Given the description of an element on the screen output the (x, y) to click on. 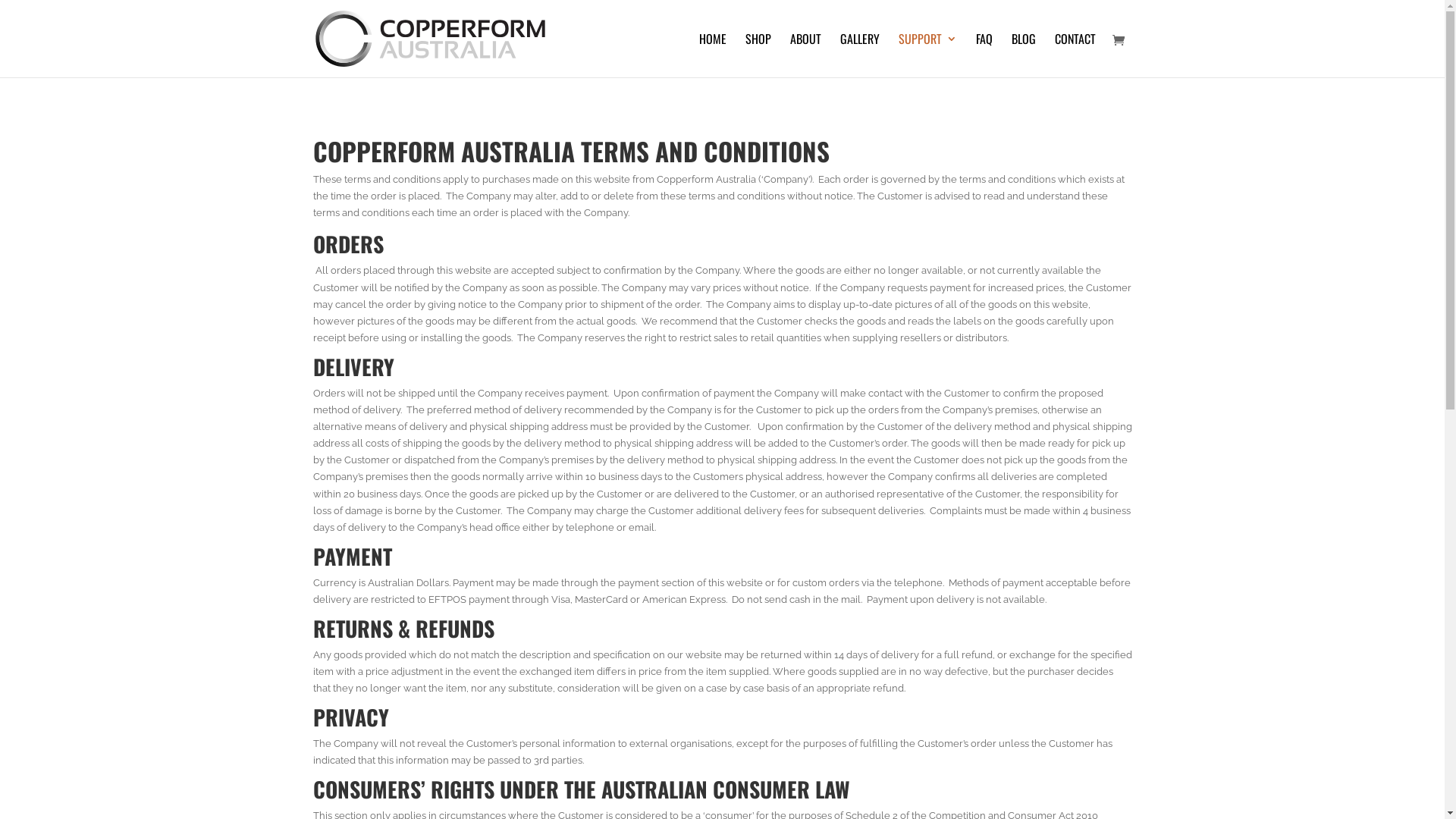
HOME Element type: text (712, 55)
GALLERY Element type: text (859, 55)
CONTACT Element type: text (1074, 55)
SHOP Element type: text (757, 55)
BLOG Element type: text (1023, 55)
FAQ Element type: text (983, 55)
SUPPORT Element type: text (926, 55)
ABOUT Element type: text (805, 55)
